Given the description of an element on the screen output the (x, y) to click on. 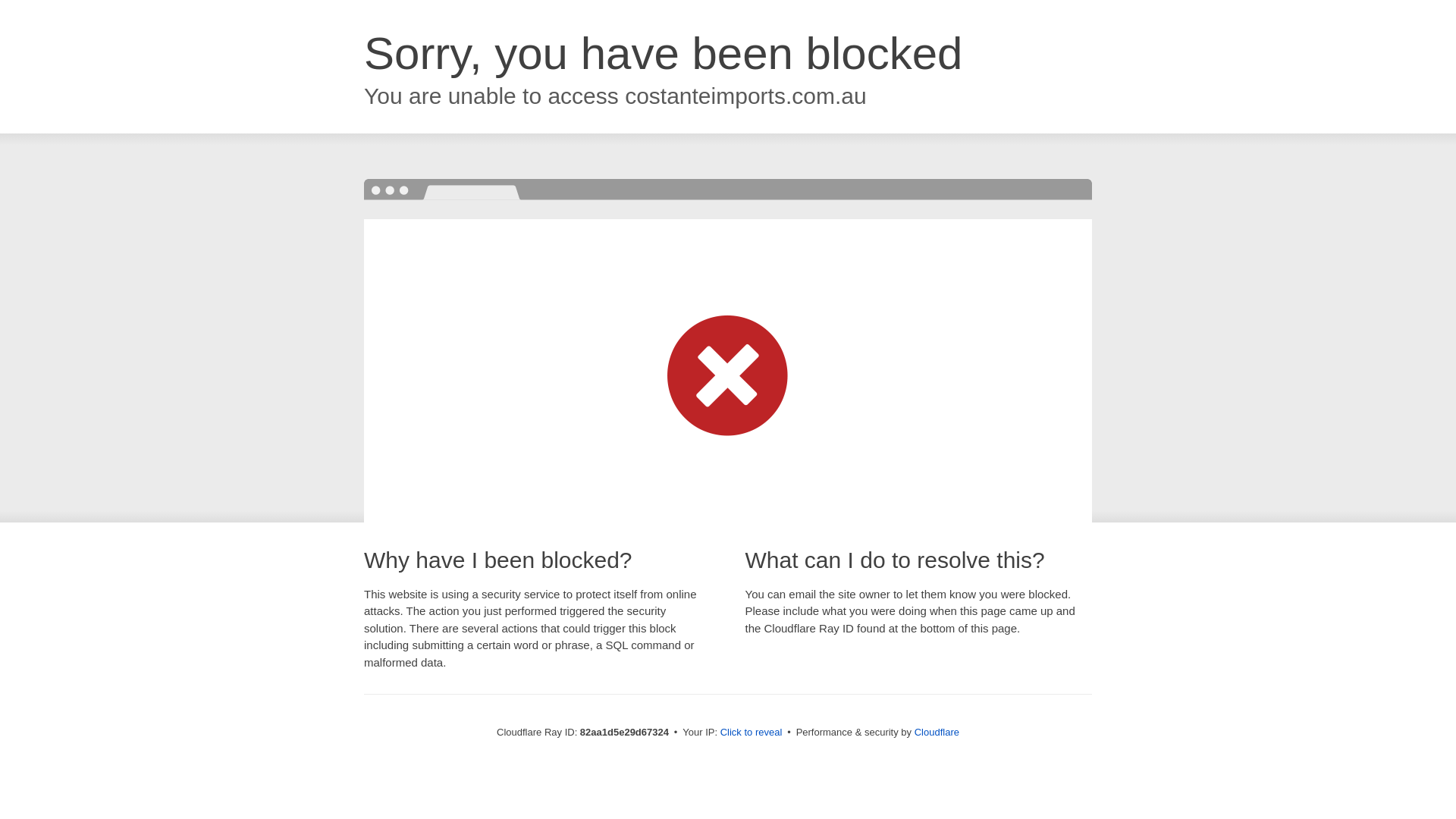
Cloudflare Element type: text (936, 731)
Click to reveal Element type: text (751, 732)
